Given the description of an element on the screen output the (x, y) to click on. 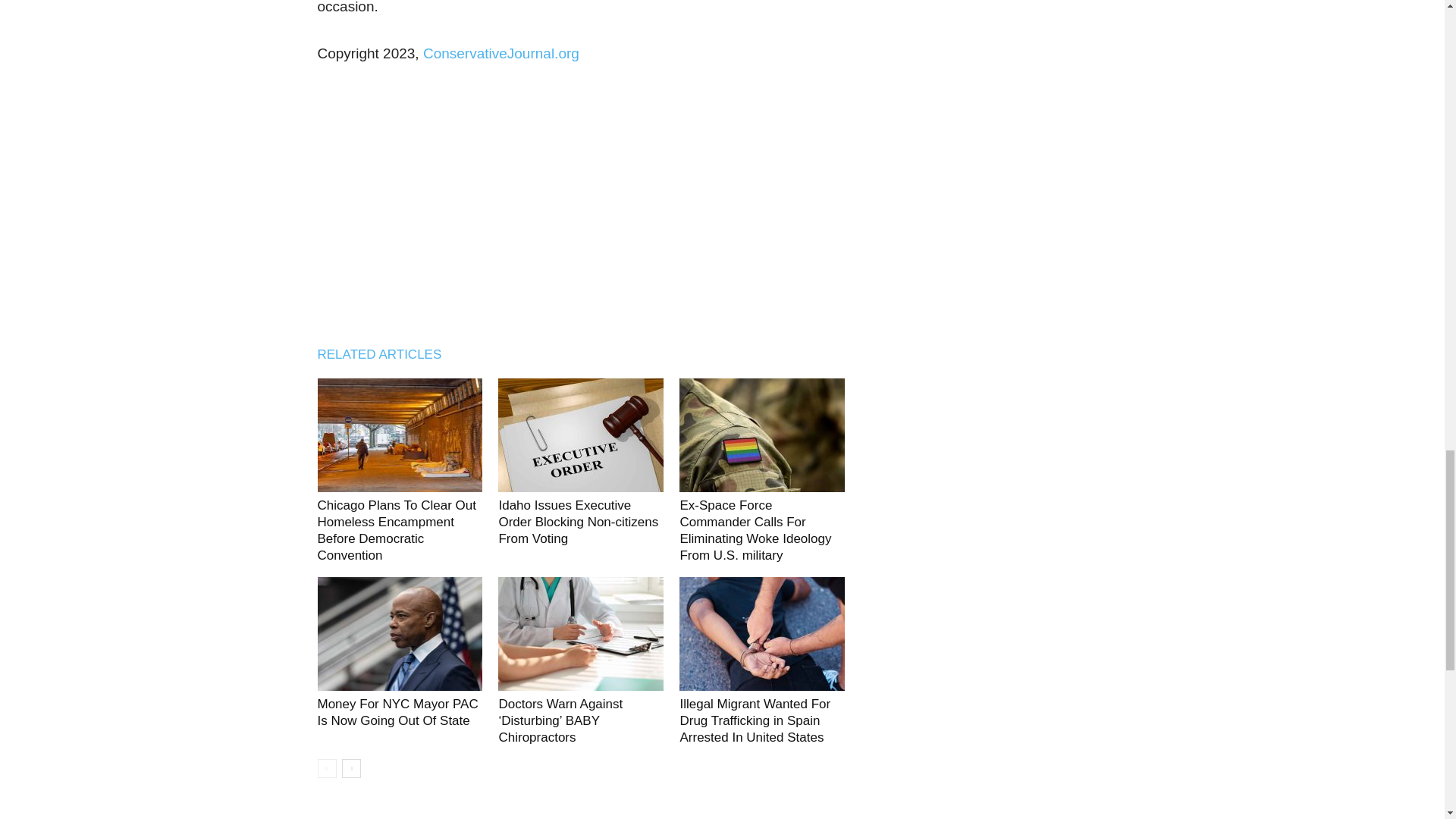
Advertisement (580, 200)
RELATED ARTICLES (387, 354)
Money For NYC Mayor PAC Is Now Going Out Of State (397, 712)
ConservativeJournal.org (501, 53)
